Given the description of an element on the screen output the (x, y) to click on. 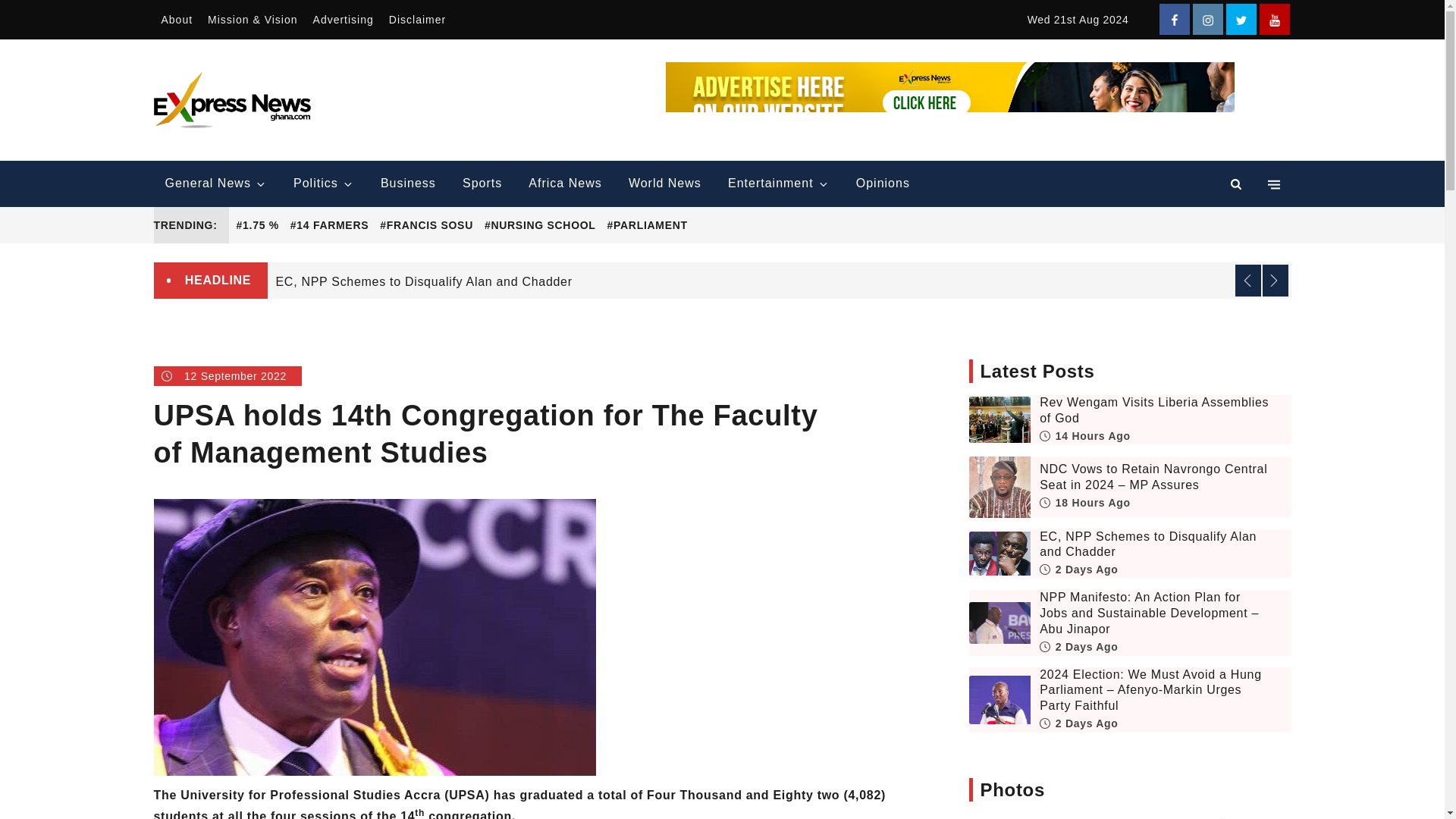
Disclaimer (416, 19)
Twitter (1240, 19)
Sports (482, 183)
Advertising (343, 19)
World News (665, 183)
General News (215, 183)
Entertainment (778, 183)
Politics (323, 183)
instagram (1207, 19)
Business (407, 183)
